Given the description of an element on the screen output the (x, y) to click on. 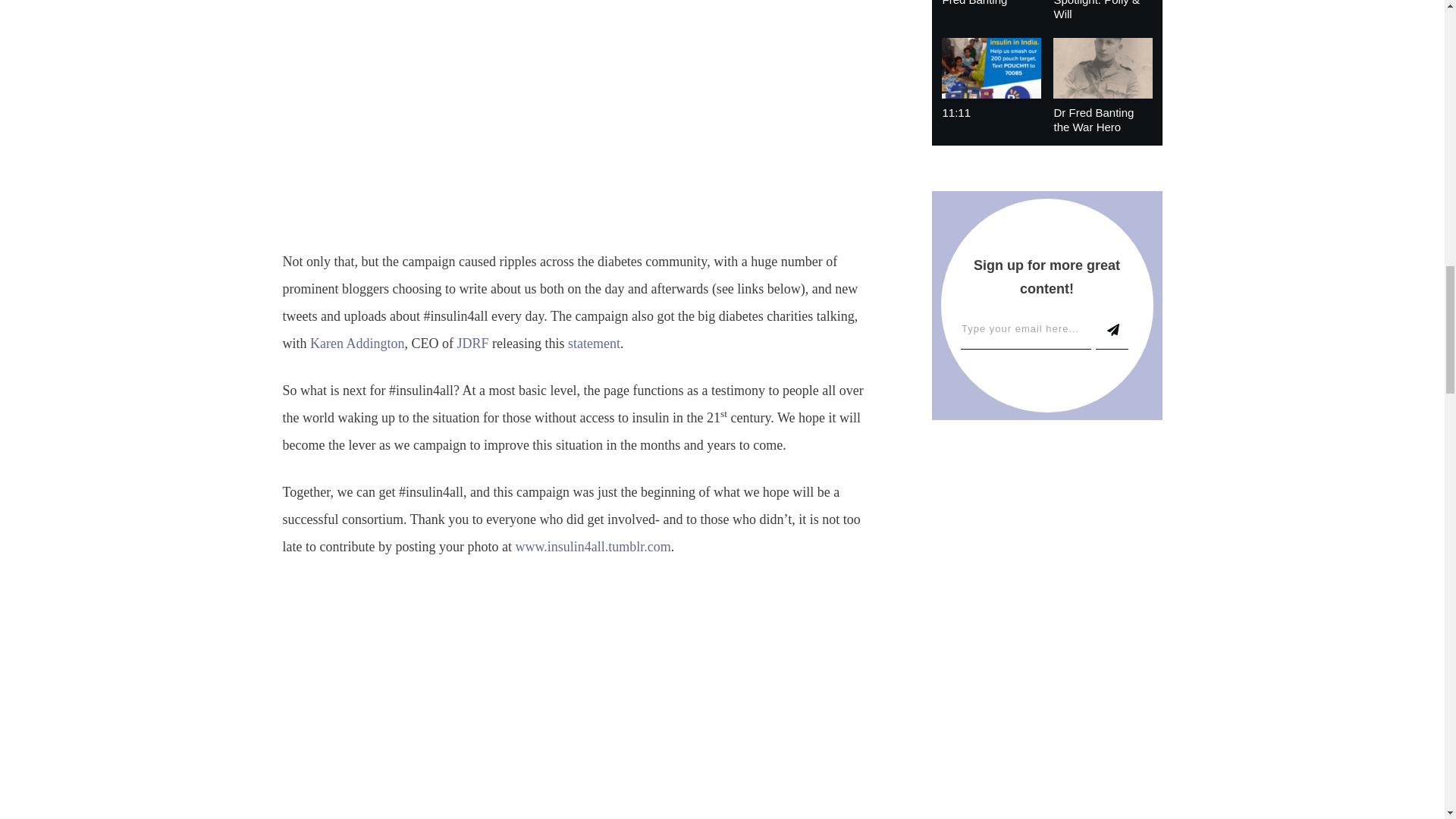
www.insulin4all.tumblr.com (592, 546)
Dr Fred Banting the War Hero (1094, 120)
statement (593, 343)
Happy Birthday Sir Fred Banting (989, 2)
JDRF (472, 343)
Karen Addington (357, 343)
11:11 (956, 112)
